Given the description of an element on the screen output the (x, y) to click on. 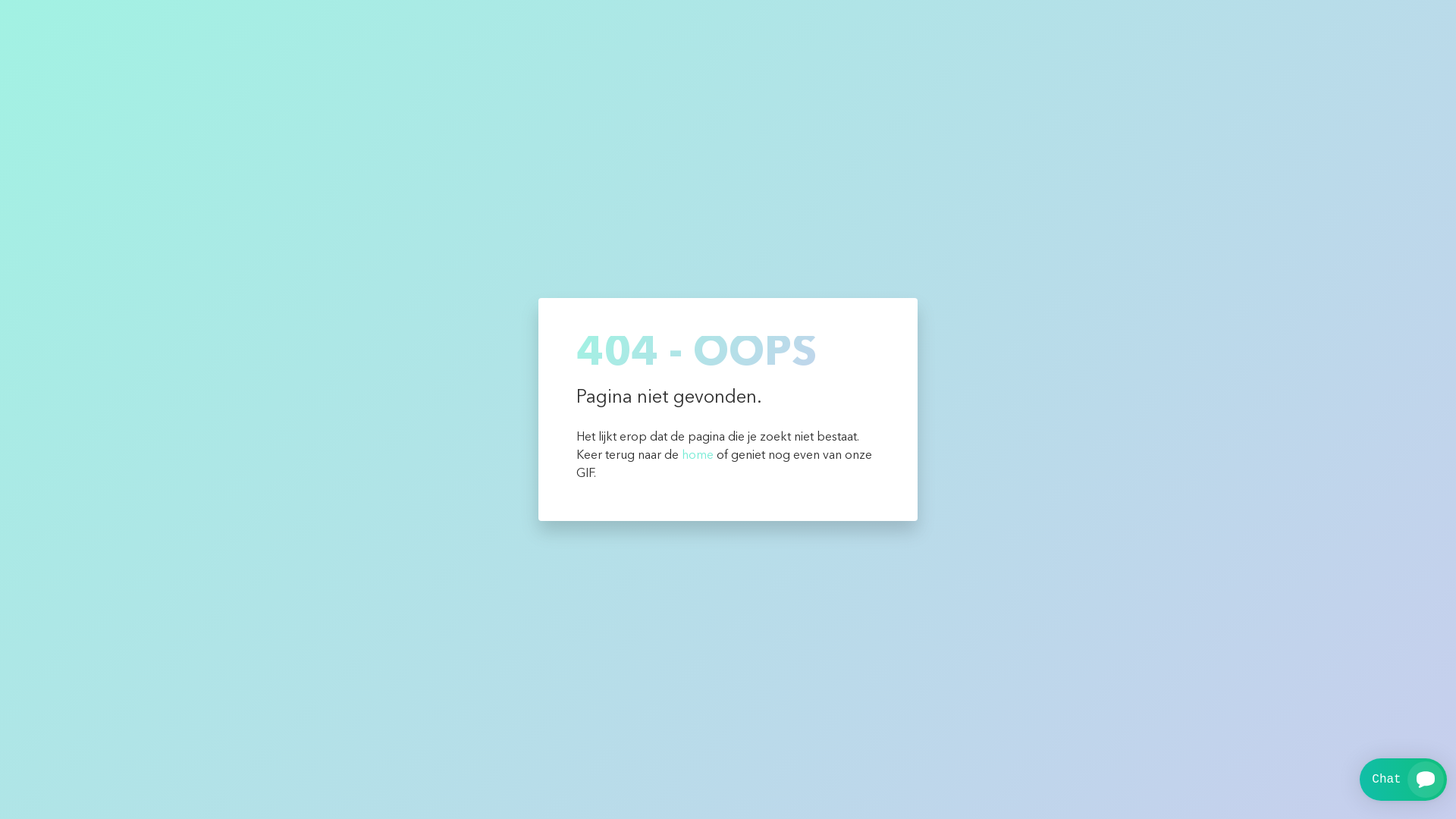
Smartsupp widget button Element type: hover (1402, 779)
home Element type: text (697, 455)
